Given the description of an element on the screen output the (x, y) to click on. 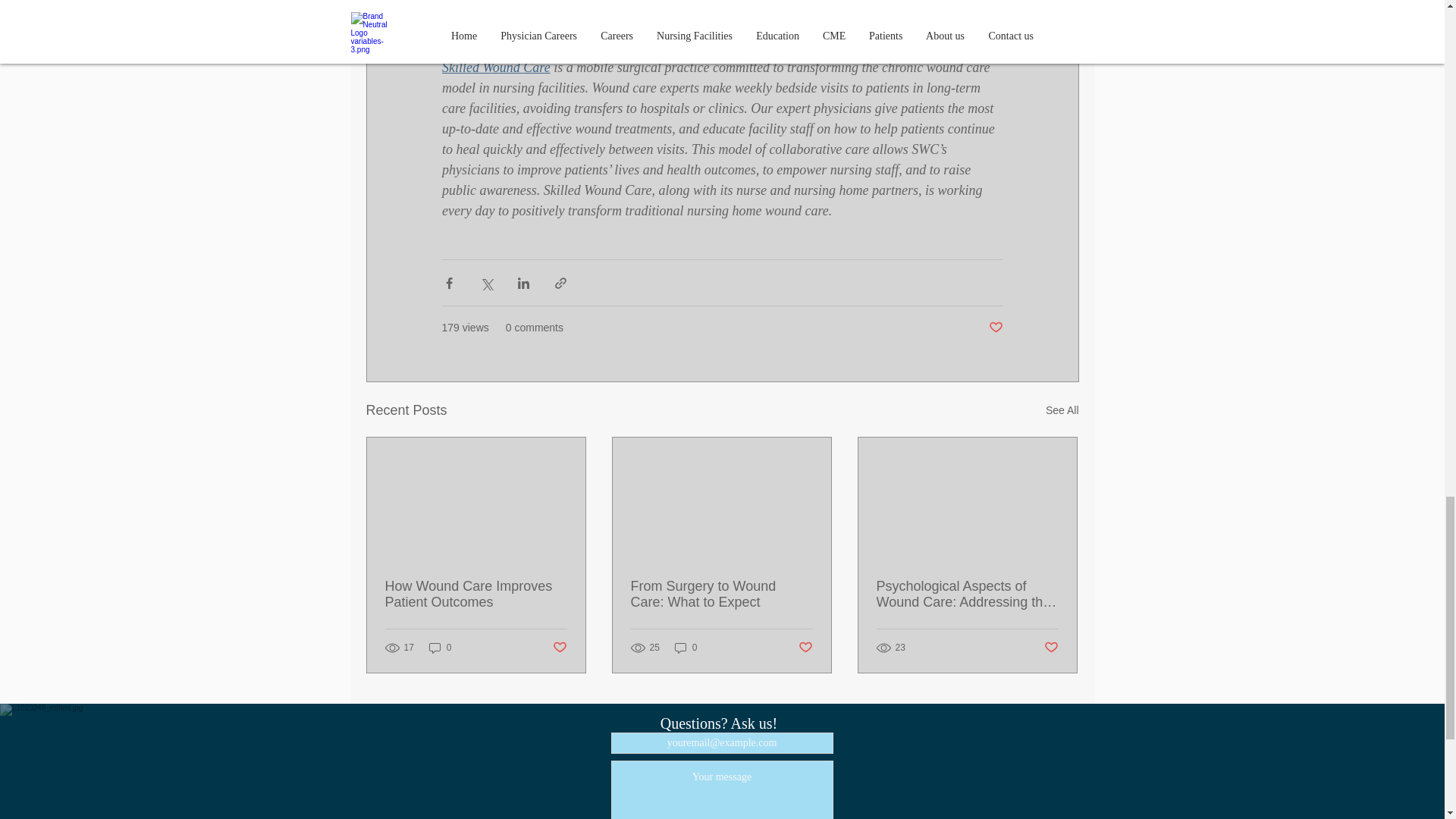
Skilled Wound Care (495, 67)
